Given the description of an element on the screen output the (x, y) to click on. 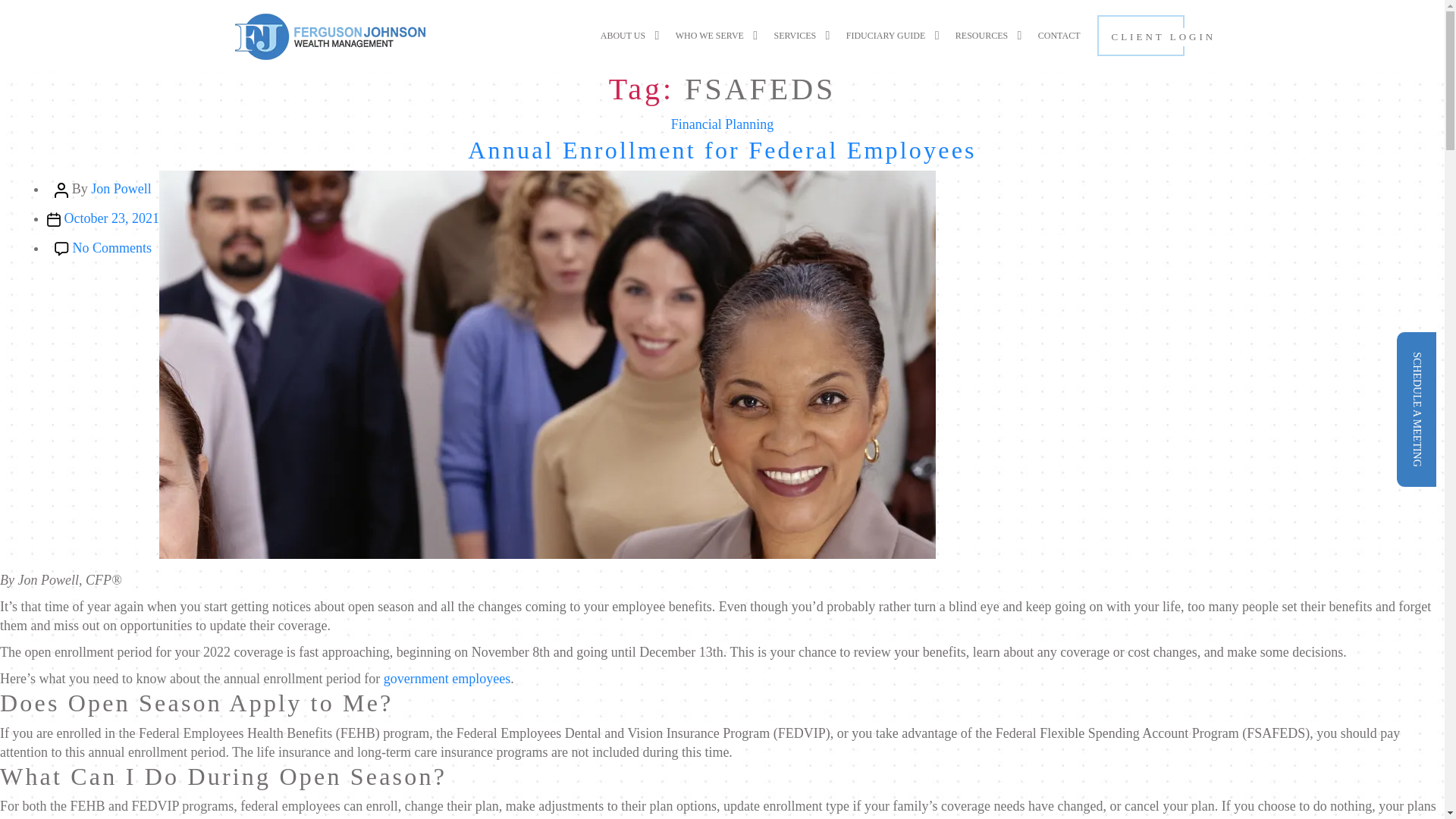
ABOUT US (632, 35)
WHO WE SERVE (718, 35)
FIDUCIARY GUIDE (894, 35)
SERVICES (803, 35)
